Given the description of an element on the screen output the (x, y) to click on. 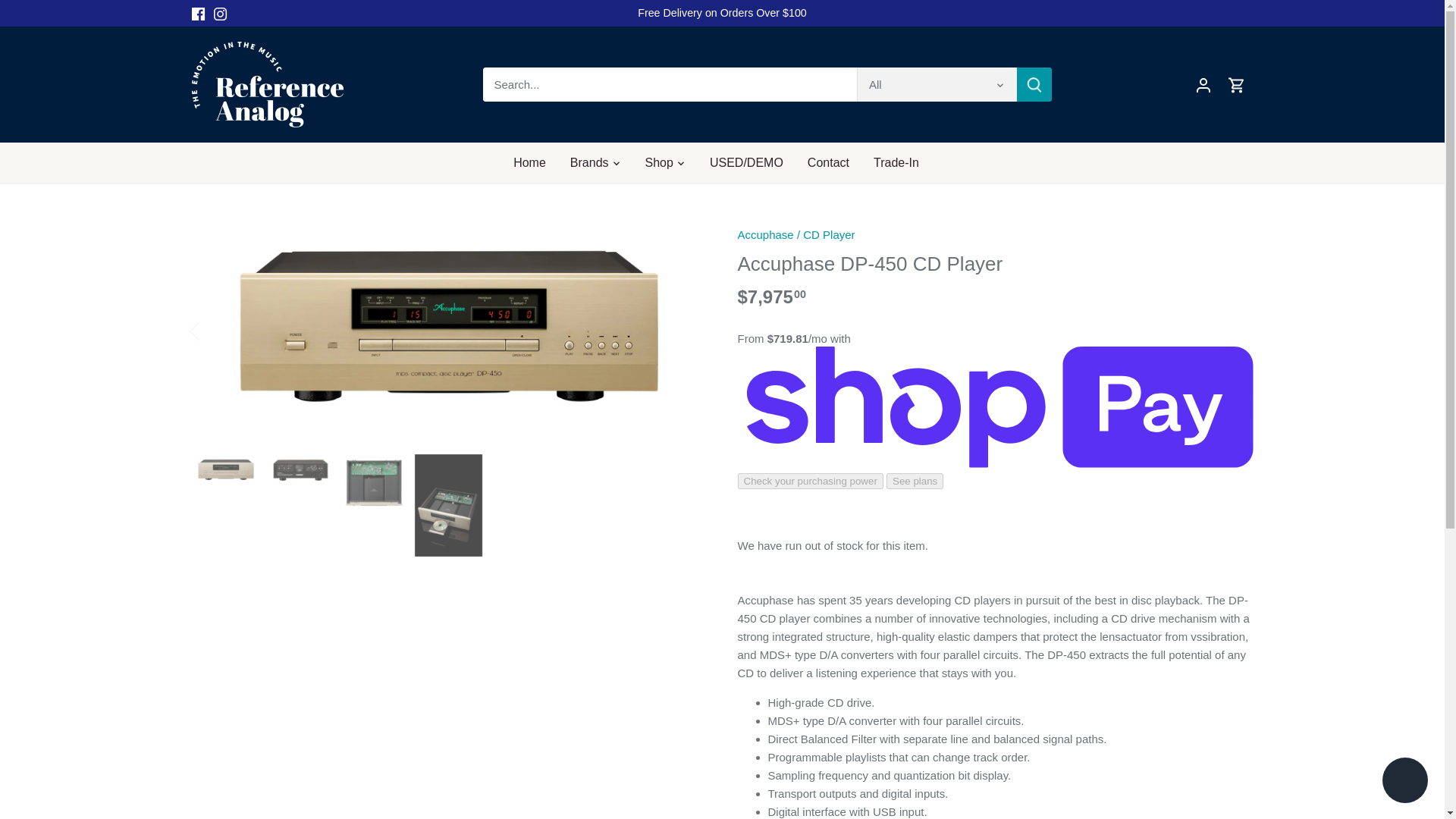
Instagram (220, 13)
Home (535, 162)
Brands (589, 162)
Facebook (196, 13)
Shopify online store chat (1404, 781)
